Given the description of an element on the screen output the (x, y) to click on. 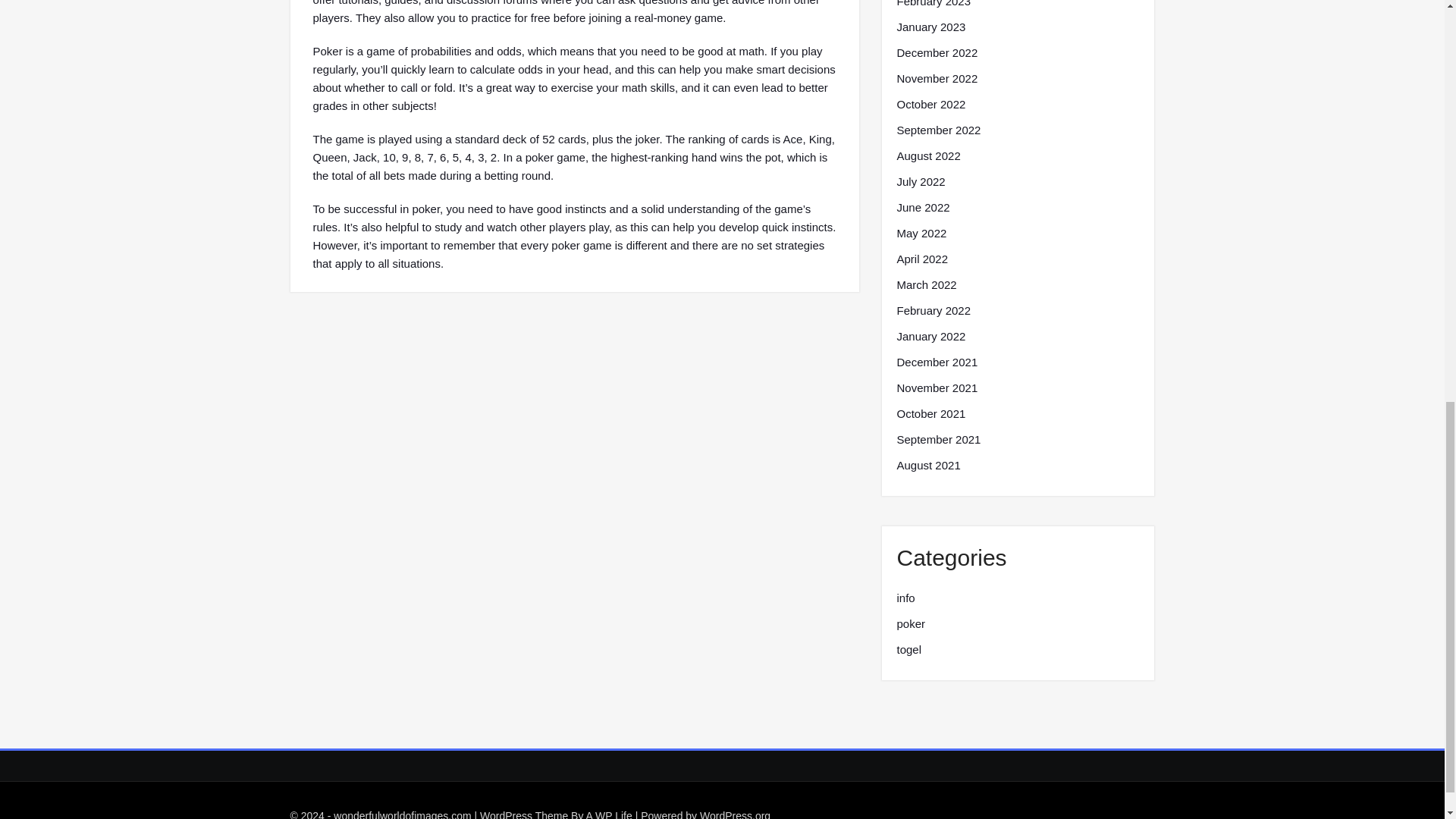
September 2022 (937, 130)
May 2022 (921, 233)
October 2022 (930, 104)
June 2022 (922, 208)
November 2022 (936, 78)
July 2022 (920, 181)
August 2022 (927, 156)
April 2022 (921, 259)
January 2023 (930, 27)
December 2022 (936, 53)
February 2023 (933, 5)
March 2022 (926, 285)
